Given the description of an element on the screen output the (x, y) to click on. 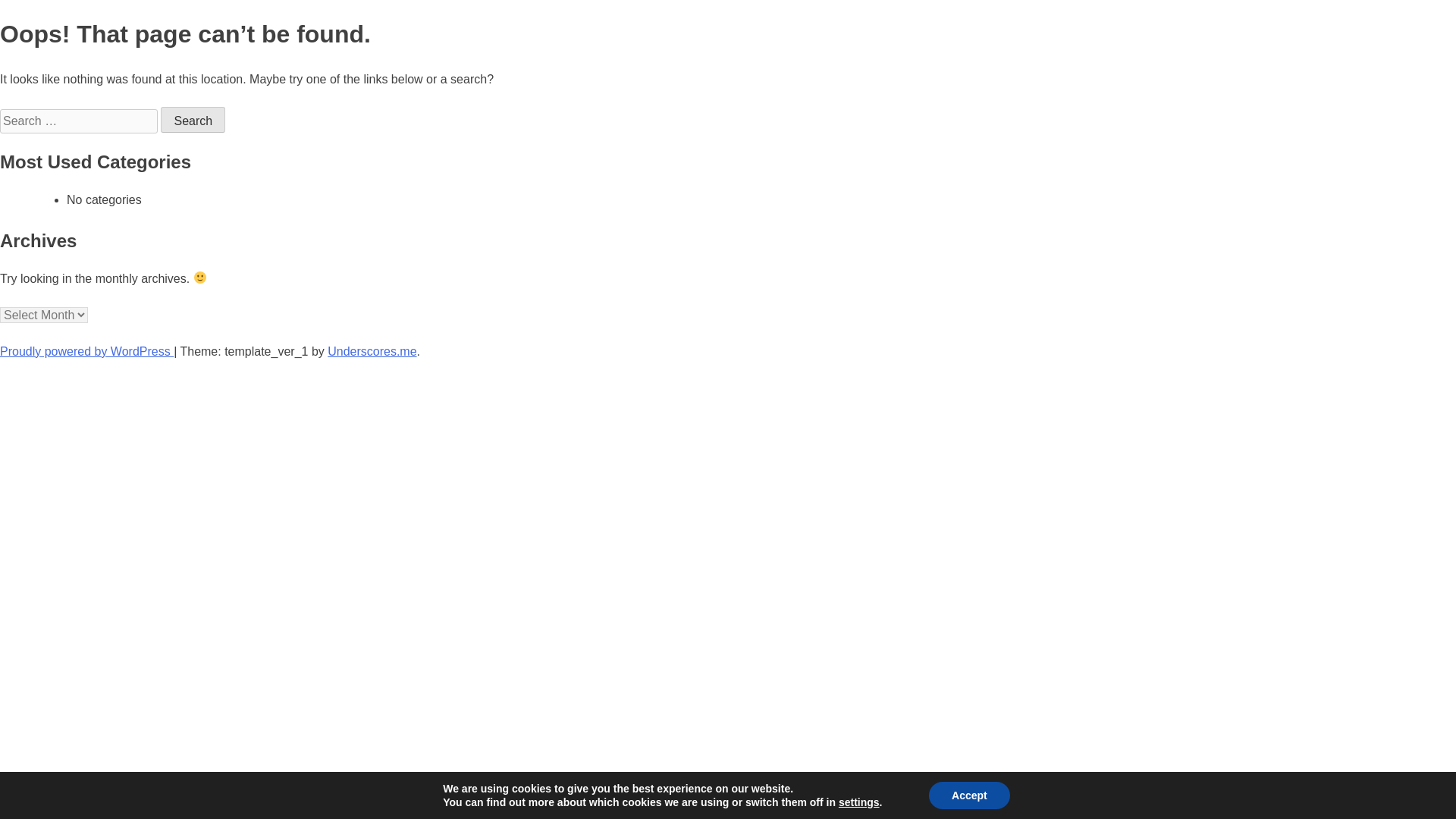
Search (192, 119)
Search (192, 119)
Search (192, 119)
